Given the description of an element on the screen output the (x, y) to click on. 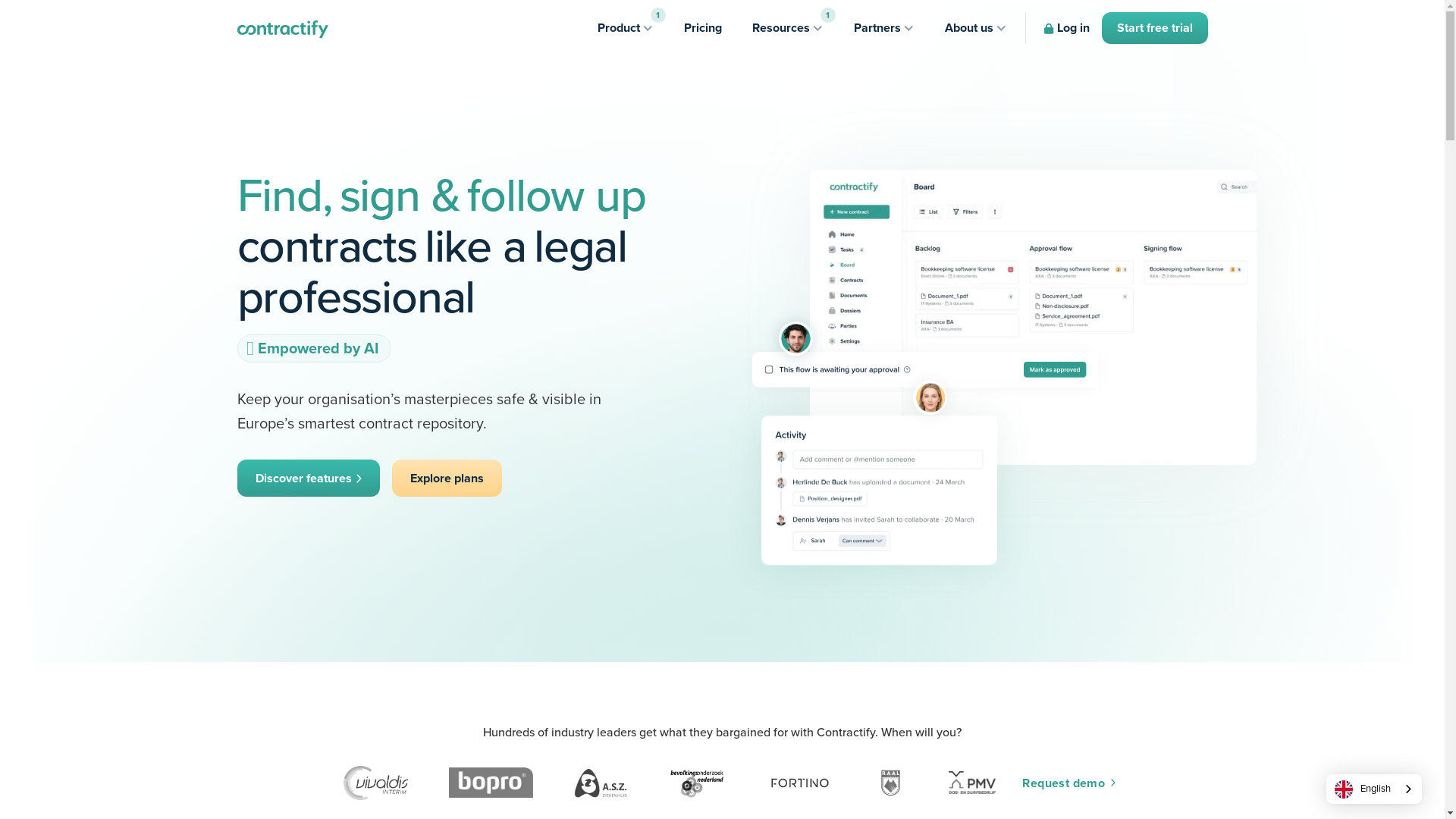
Discover features Element type: text (307, 478)
Explore plans Element type: text (447, 478)
Pricing Element type: text (702, 28)
English Element type: text (1374, 789)
Log in Element type: text (1066, 28)
Start free trial Element type: text (1154, 27)
Request demo Element type: text (1068, 782)
